Given the description of an element on the screen output the (x, y) to click on. 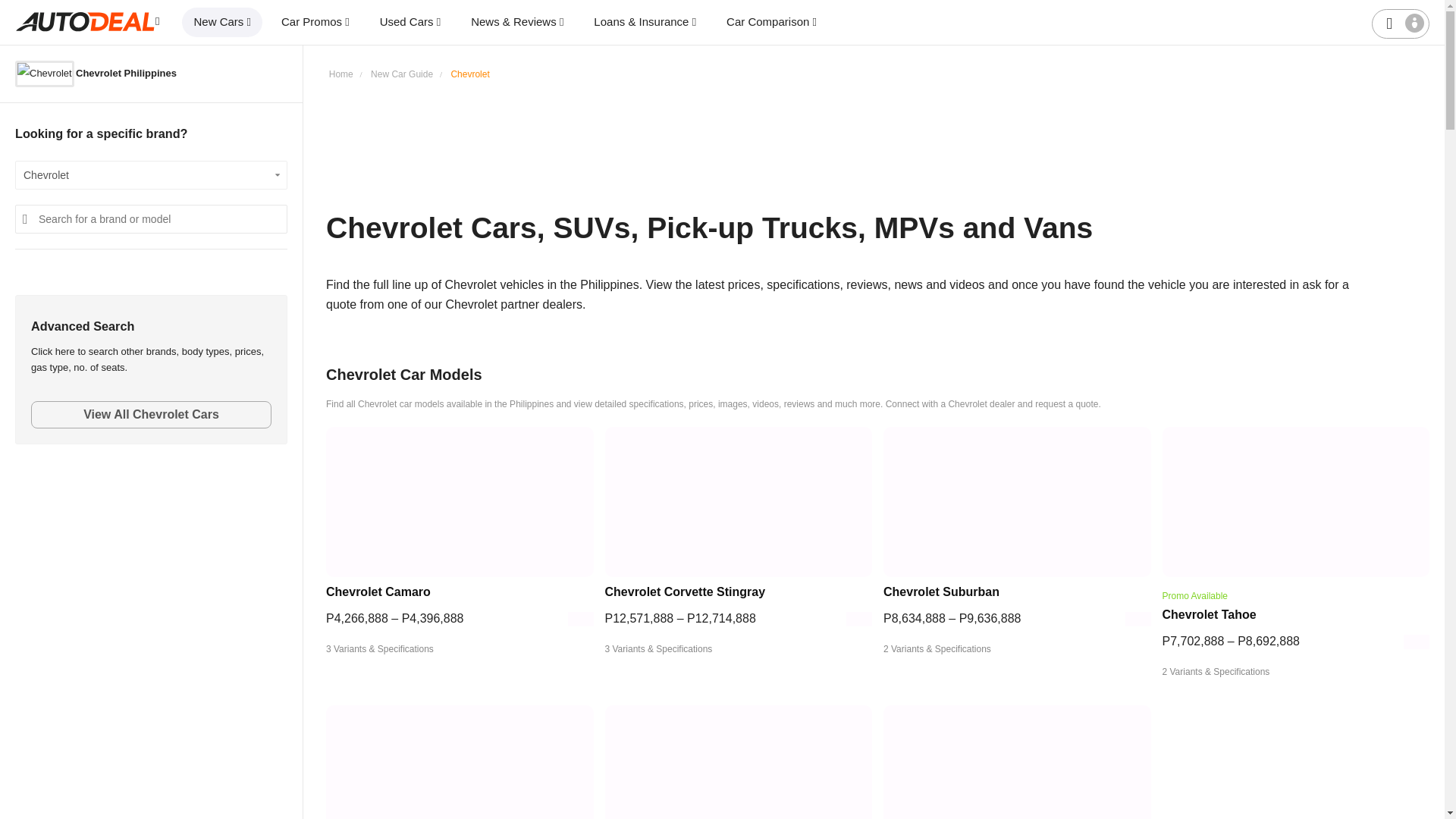
New Cars (222, 21)
